Given the description of an element on the screen output the (x, y) to click on. 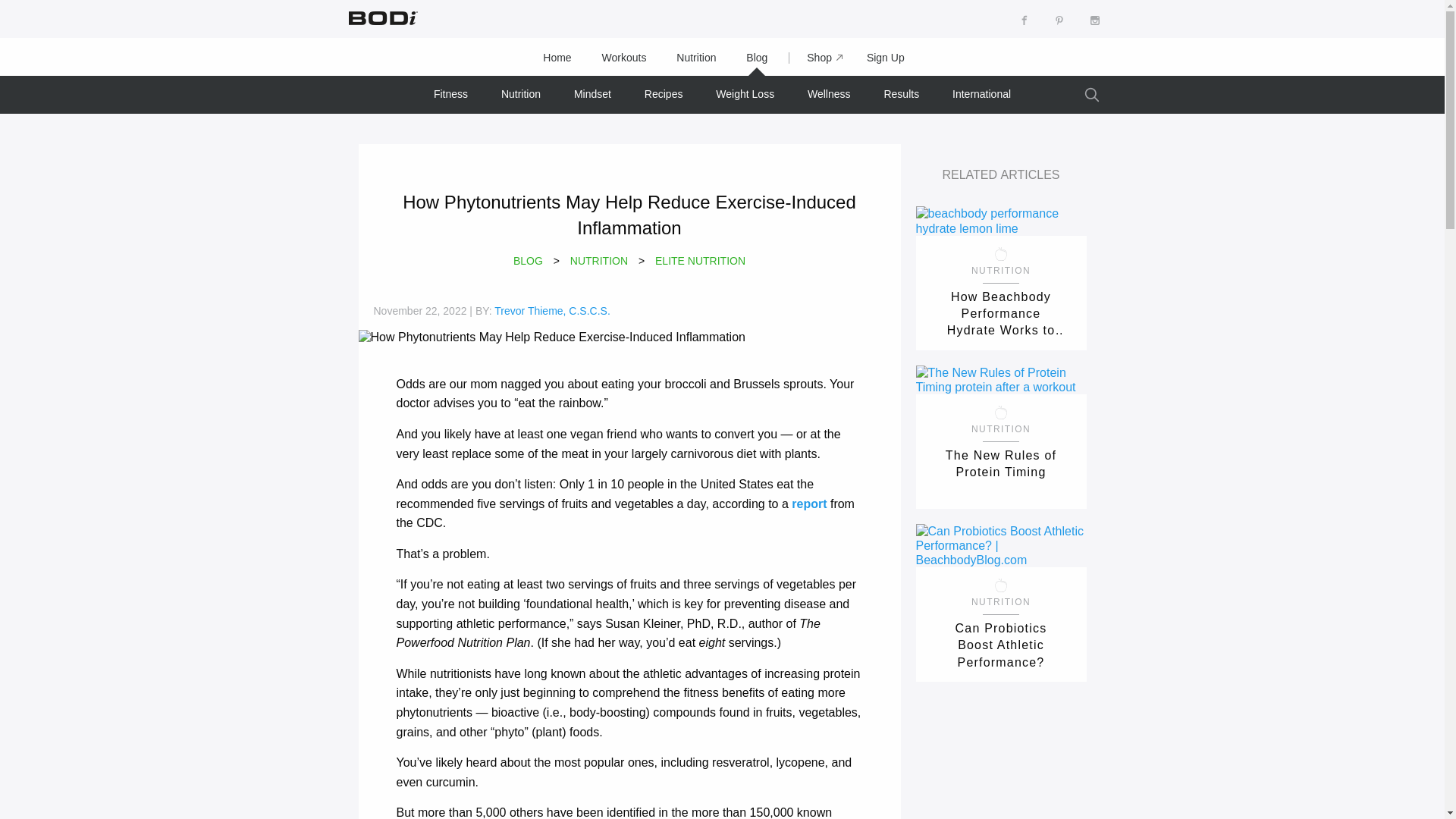
Nutrition (695, 57)
Fitness (451, 93)
Sign Up (885, 57)
Workouts (624, 57)
Beachbody on Demand (381, 17)
Recipes (663, 93)
Nutrition (521, 93)
Shop (817, 57)
Adults Meeting Fruit and Vegetable Intake Recommendations (809, 503)
Mindset (592, 93)
Blog (756, 57)
Tuesday, November 22, 2022, 11:55 am (418, 310)
Posts by Trevor Thieme, C.S.C.S. (552, 310)
Home (556, 57)
